Given the description of an element on the screen output the (x, y) to click on. 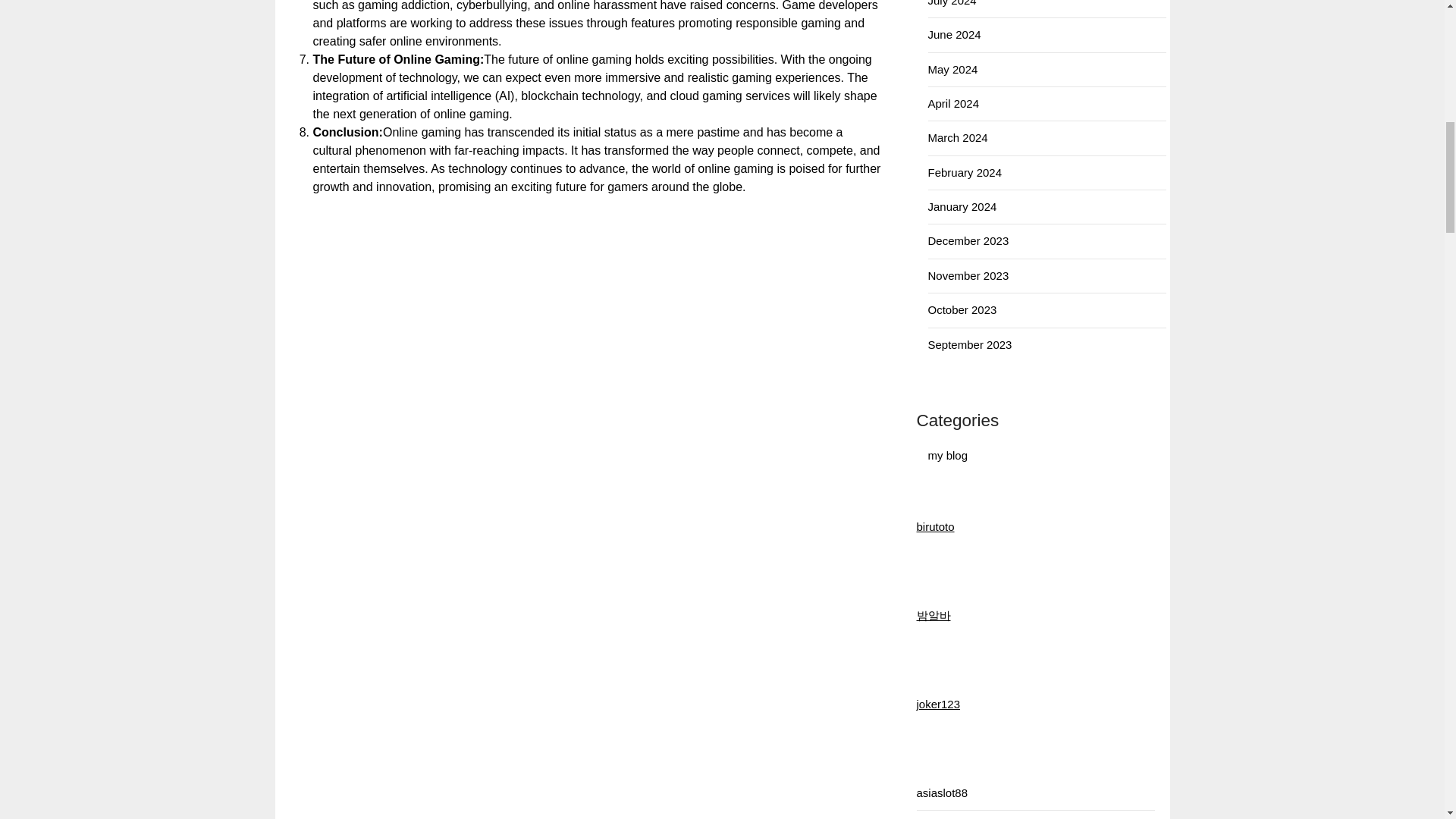
January 2024 (962, 205)
March 2024 (958, 137)
May 2024 (953, 69)
asiaslot88 (941, 791)
birutoto (934, 526)
October 2023 (962, 309)
February 2024 (965, 172)
June 2024 (954, 33)
November 2023 (968, 275)
July 2024 (952, 3)
